Given the description of an element on the screen output the (x, y) to click on. 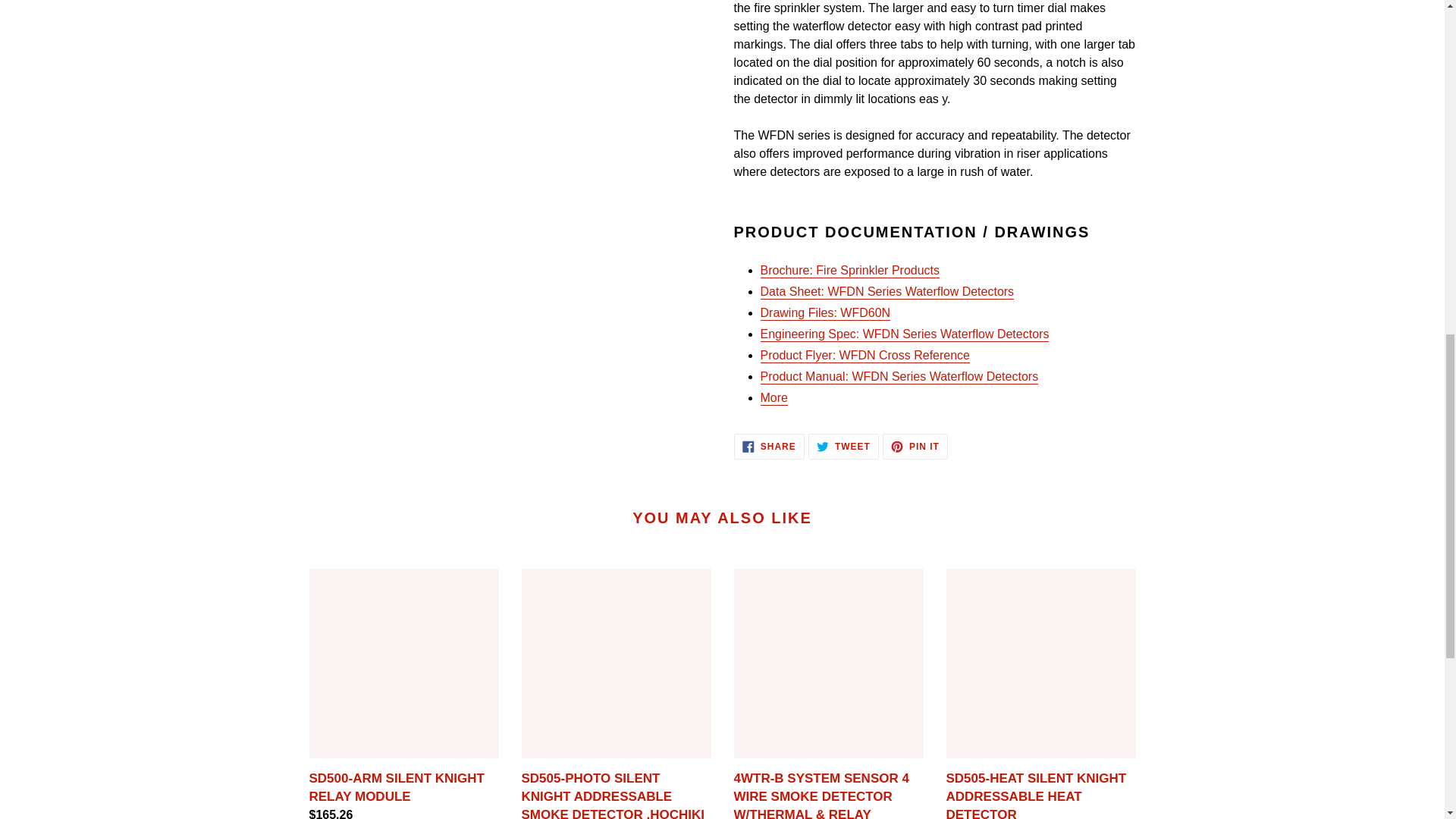
Product Manual: WFDN Series Waterflow Detectors (899, 377)
Data Sheet: WFDN Series Waterflow Detectors (886, 292)
Data Sheet: WFDN Series Waterflow Detectors (886, 292)
Drawing Files: WFD60N (824, 313)
Product Manual: WFDN Series Waterflow Detectors (899, 377)
Engineering Spec: WFDN Series Waterflow Detectors (904, 334)
Engineering Spec: WFDN Series Waterflow Detectors (904, 334)
More (773, 398)
Drawing Files: WFD60N (914, 446)
